Given the description of an element on the screen output the (x, y) to click on. 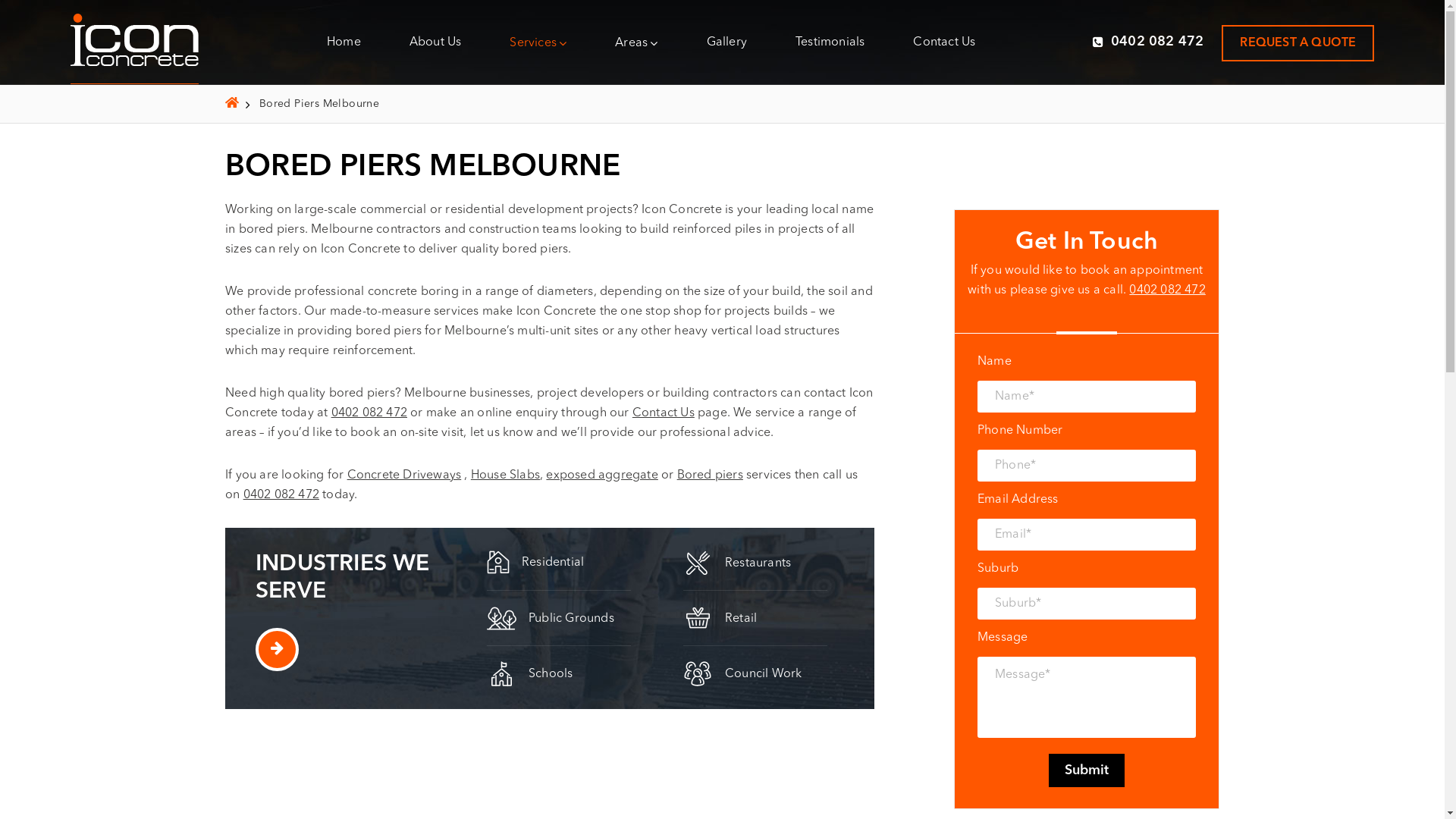
Contact Us Element type: text (663, 413)
Contact Us Element type: text (944, 41)
0402 082 472 Element type: text (1148, 40)
About Us Element type: text (435, 41)
Testimonials Element type: text (829, 41)
exposed aggregate Element type: text (601, 475)
Submit Element type: text (1086, 770)
Gallery Element type: text (726, 41)
REQUEST A QUOTE Element type: text (1297, 42)
Services Element type: text (537, 42)
Home Element type: text (343, 41)
House Slabs Element type: text (504, 475)
Concrete Driveways Element type: text (404, 475)
0402 082 472 Element type: text (369, 413)
Areas Element type: text (636, 42)
Bored piers Element type: text (710, 475)
0402 082 472 Element type: text (1166, 290)
0402 082 472 Element type: text (281, 495)
